Given the description of an element on the screen output the (x, y) to click on. 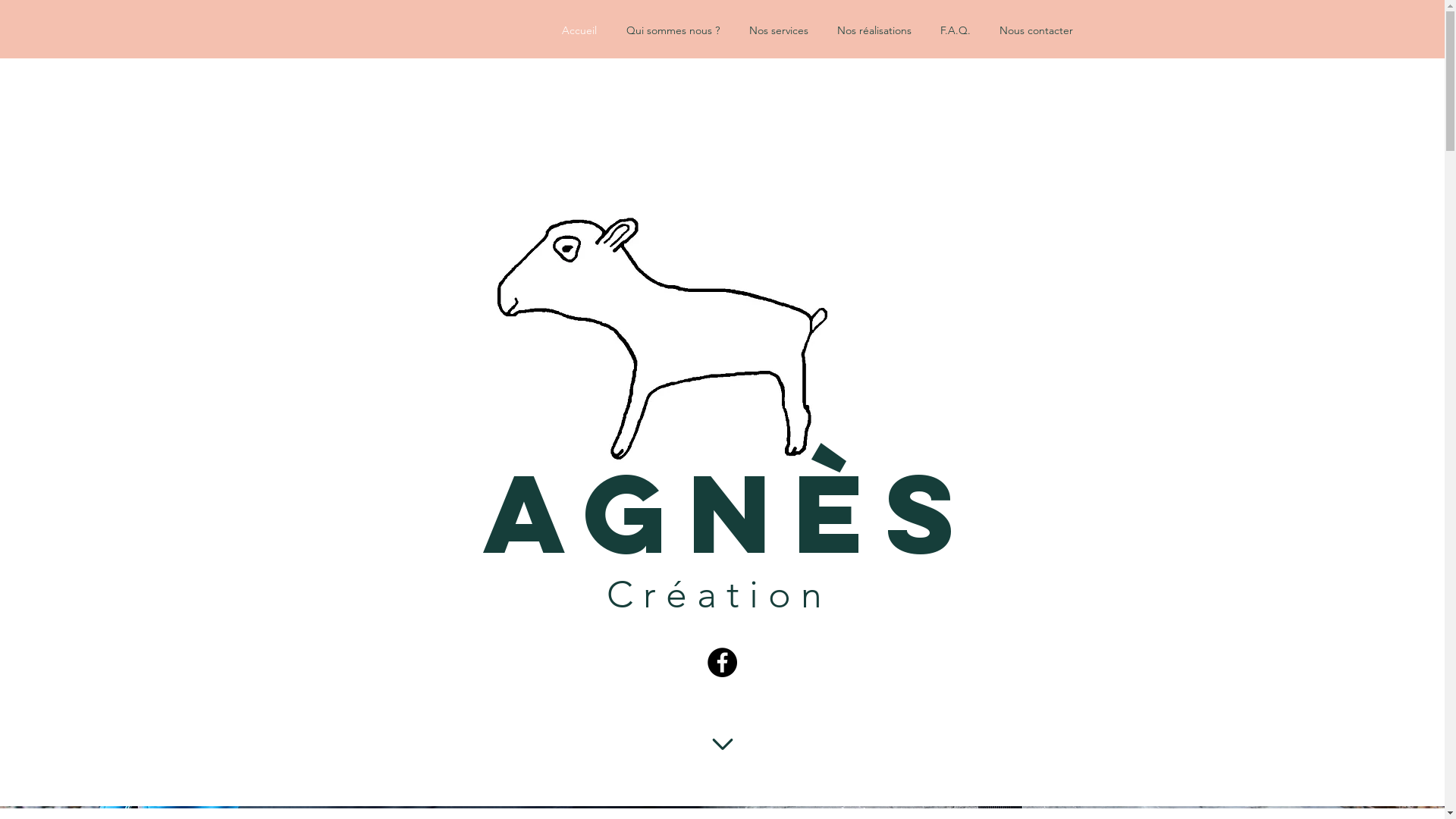
Qui sommes nous ? Element type: text (679, 30)
Nos services Element type: text (785, 30)
Accueil Element type: text (585, 30)
F.A.Q. Element type: text (961, 30)
Nous contacter Element type: text (1042, 30)
